Given the description of an element on the screen output the (x, y) to click on. 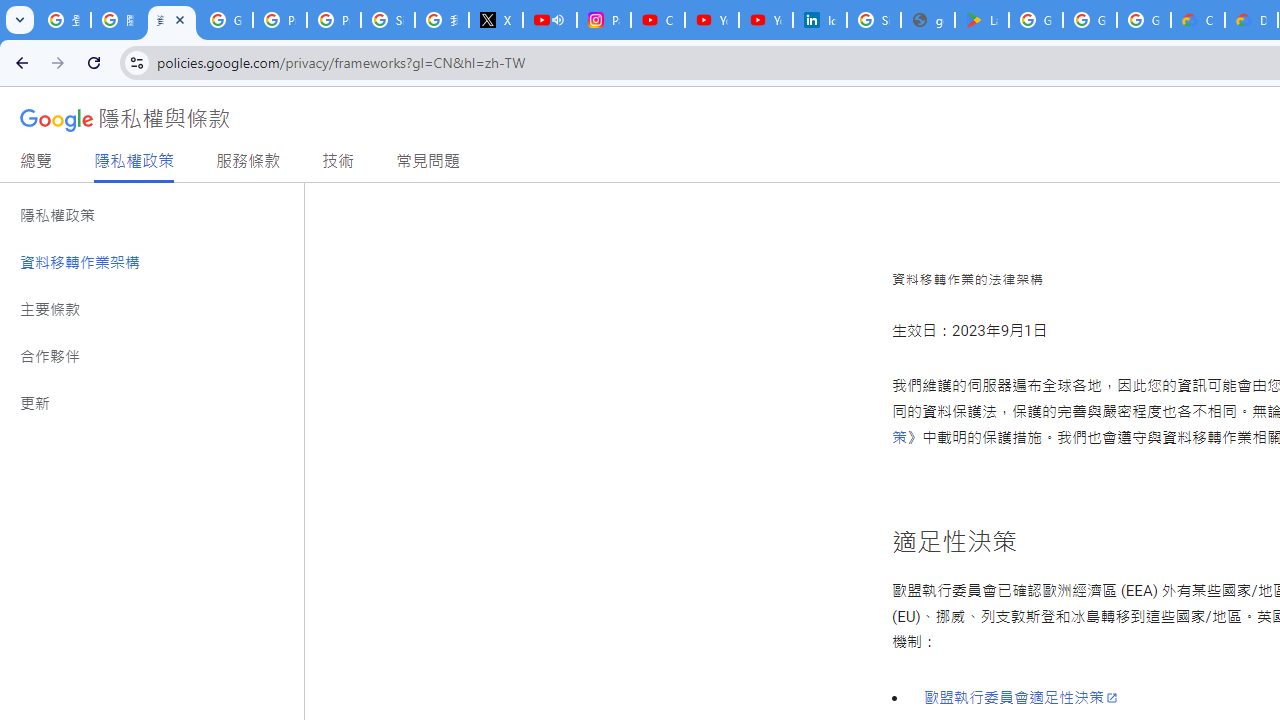
Google Workspace - Specific Terms (1089, 20)
Customer Care | Google Cloud (1197, 20)
X (495, 20)
